Given the description of an element on the screen output the (x, y) to click on. 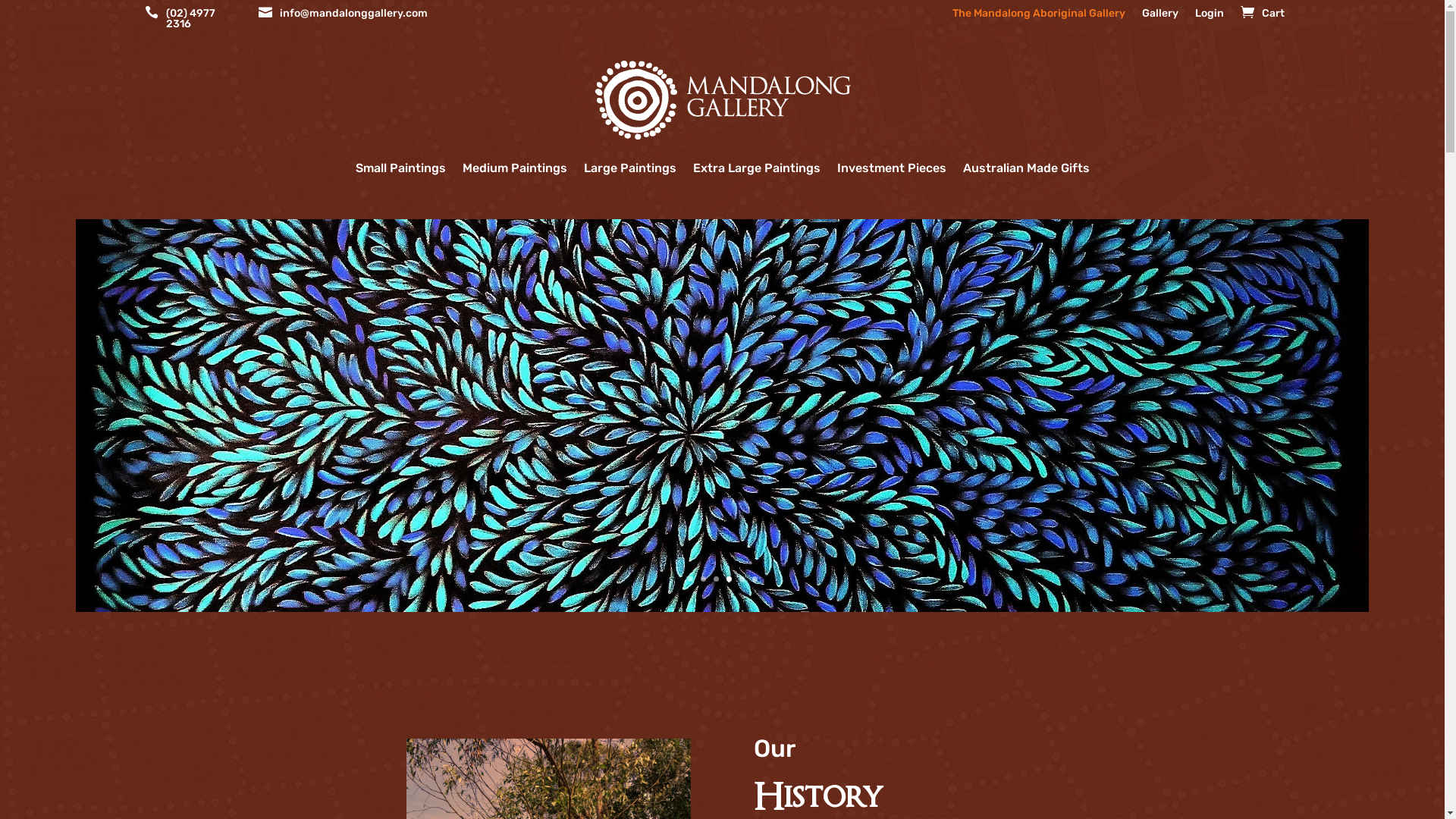
2 Element type: text (703, 578)
Shop Now Element type: text (721, 476)
Investment Pieces Element type: text (891, 160)
Cart Element type: text (1272, 16)
Medium Paintings Element type: text (722, 388)
Medium Paintings Element type: text (514, 160)
info@mandalonggallery.com Element type: text (352, 21)
Gallery Element type: text (1160, 16)
Australian Made Gifts Element type: text (1026, 160)
1 Element type: text (689, 578)
The Mandalong Aboriginal Gallery Element type: text (1038, 16)
Login Element type: text (1209, 16)
Small Paintings Element type: text (399, 160)
4 Element type: text (728, 578)
5 Element type: text (740, 578)
(02) 4977 2316 Element type: text (203, 21)
3 Element type: text (715, 578)
6 Element type: text (754, 578)
Extra Large Paintings Element type: text (756, 160)
Large Paintings Element type: text (629, 160)
